Given the description of an element on the screen output the (x, y) to click on. 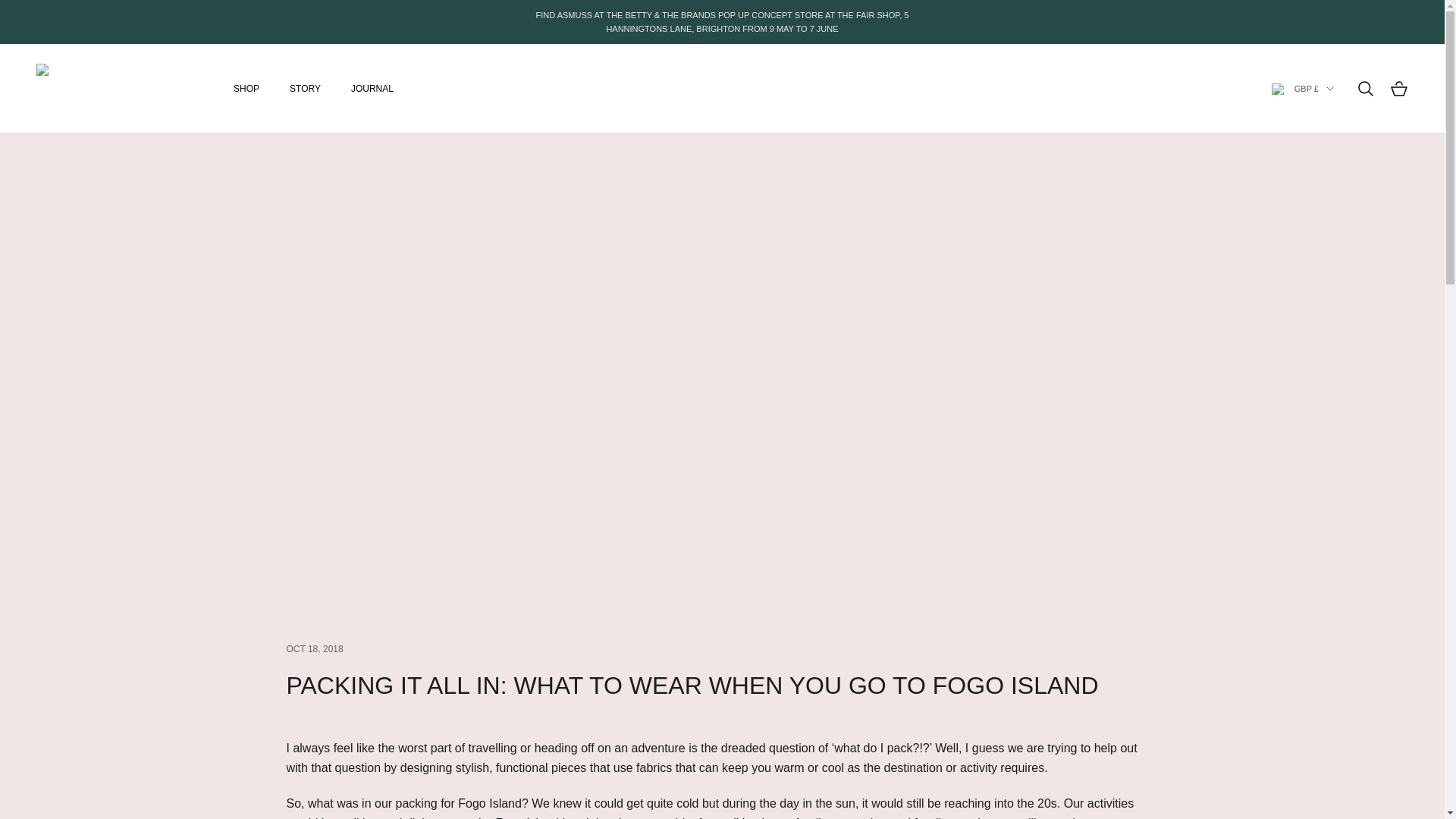
JOURNAL (371, 88)
Asmuss Clothing (119, 88)
